Given the description of an element on the screen output the (x, y) to click on. 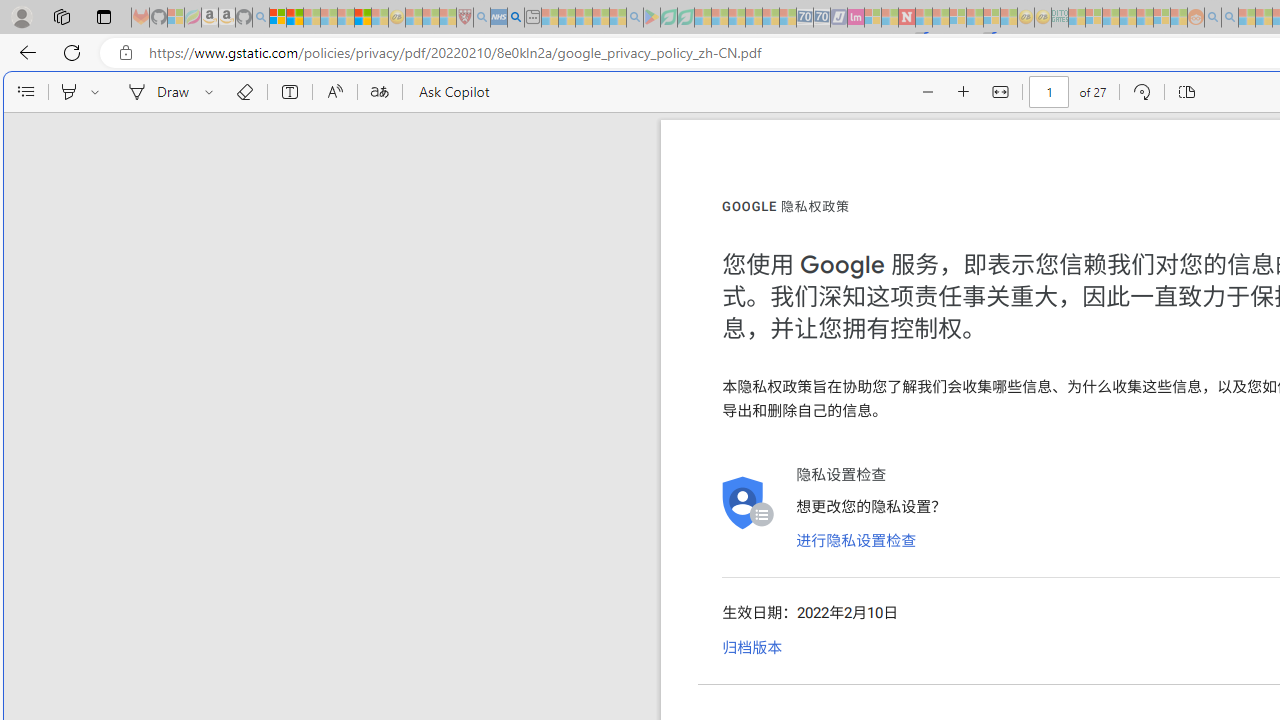
Highlight (68, 92)
Trusted Community Engagement and Contributions | Guidelines (923, 17)
Pets - MSN - Sleeping (600, 17)
Kinda Frugal - MSN - Sleeping (1144, 17)
Bluey: Let's Play! - Apps on Google Play - Sleeping (651, 17)
New tab - Sleeping (532, 17)
